Given the description of an element on the screen output the (x, y) to click on. 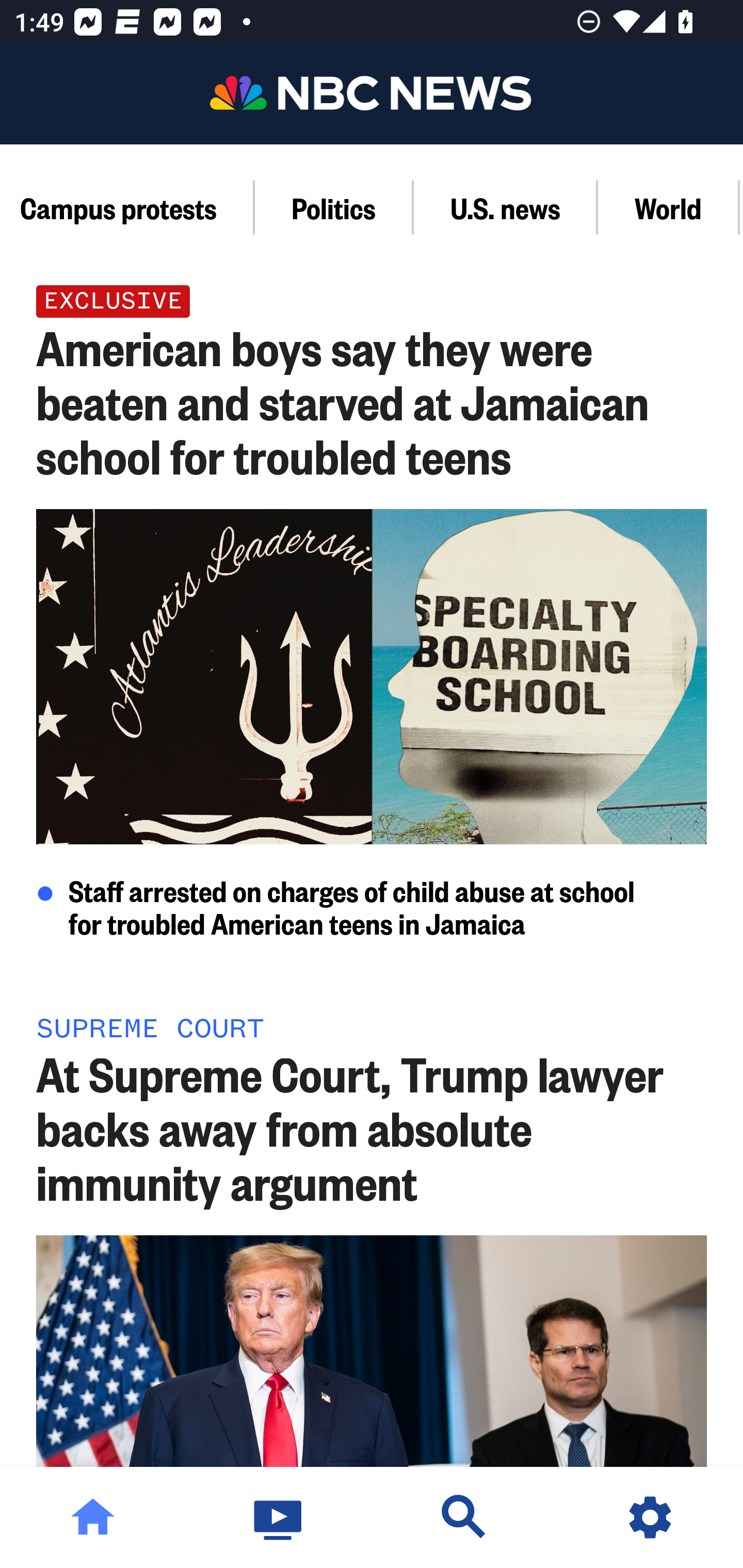
Campus protests (127, 207)
Politics Section,Politics (333, 207)
U.S. news Section,U.S. news (505, 207)
World Section,World (669, 207)
Watch (278, 1517)
Discover (464, 1517)
Settings (650, 1517)
